Given the description of an element on the screen output the (x, y) to click on. 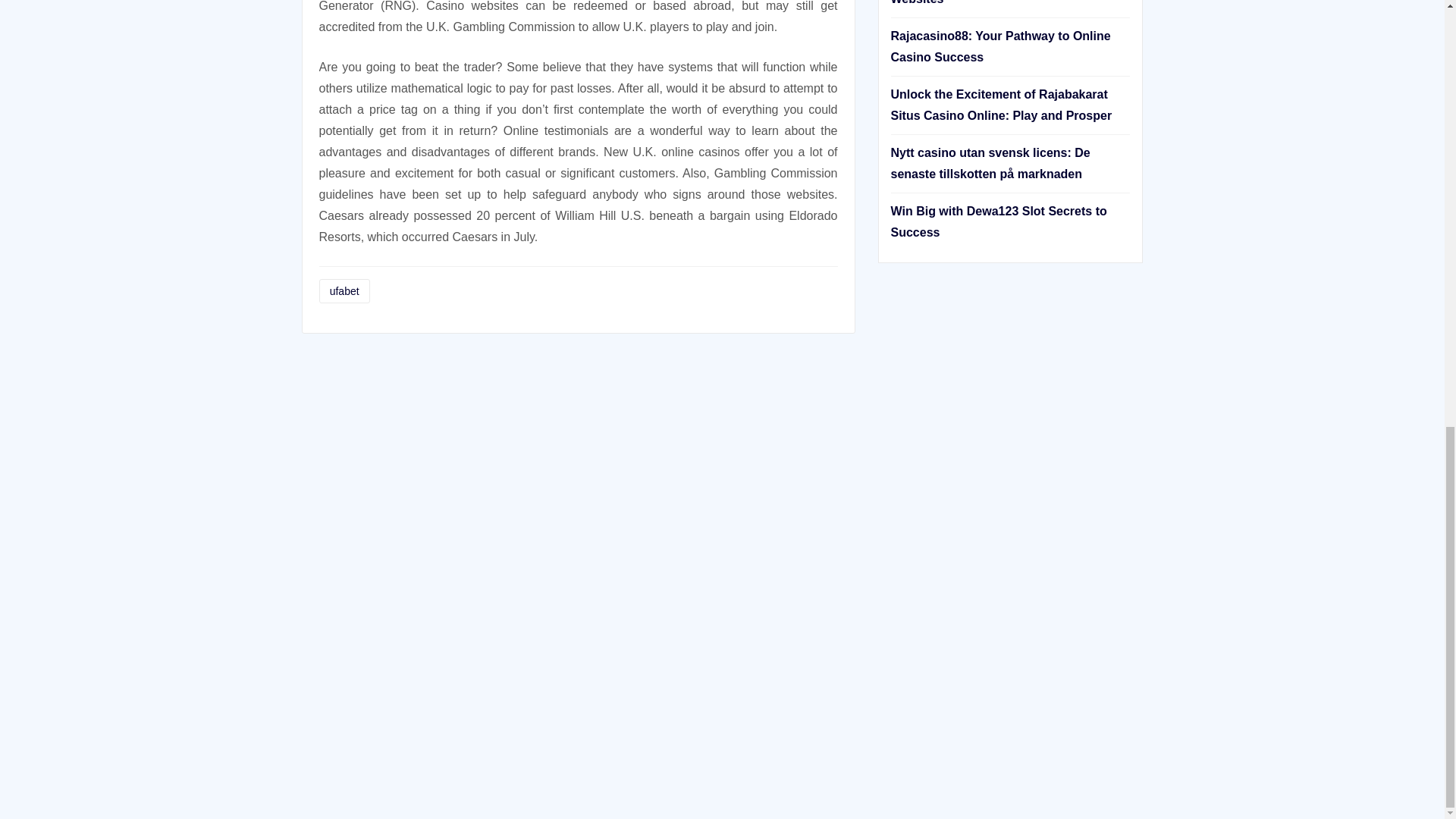
Rajacasino88: Your Pathway to Online Casino Success (999, 46)
ufabet (343, 291)
Direct Access to the Best AMB Slots Websites (994, 2)
Win Big with Dewa123 Slot Secrets to Success (997, 221)
